Given the description of an element on the screen output the (x, y) to click on. 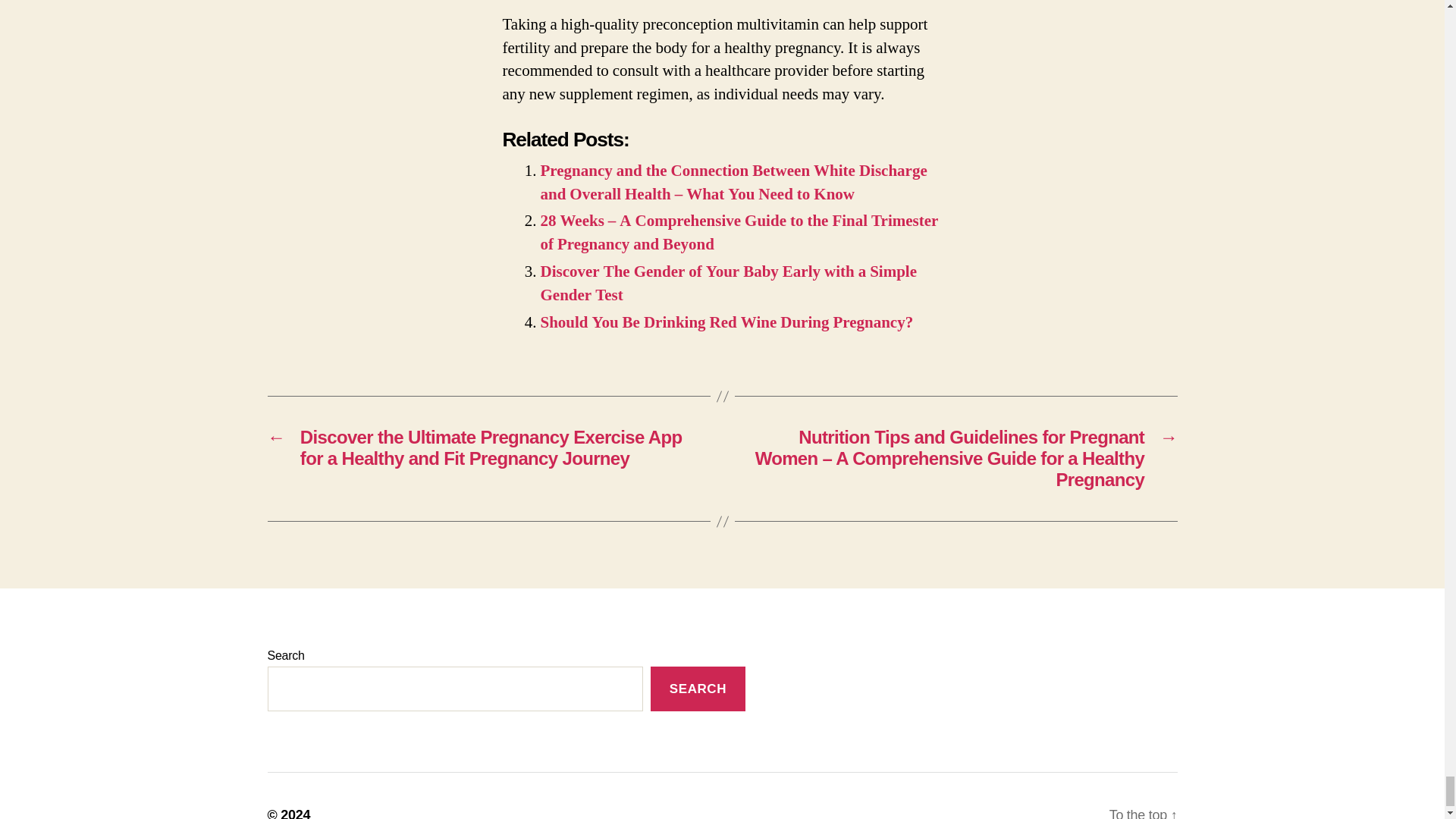
Should You Be Drinking Red Wine During Pregnancy? (726, 322)
Should You Be Drinking Red Wine During Pregnancy? (726, 322)
SEARCH (697, 688)
